Given the description of an element on the screen output the (x, y) to click on. 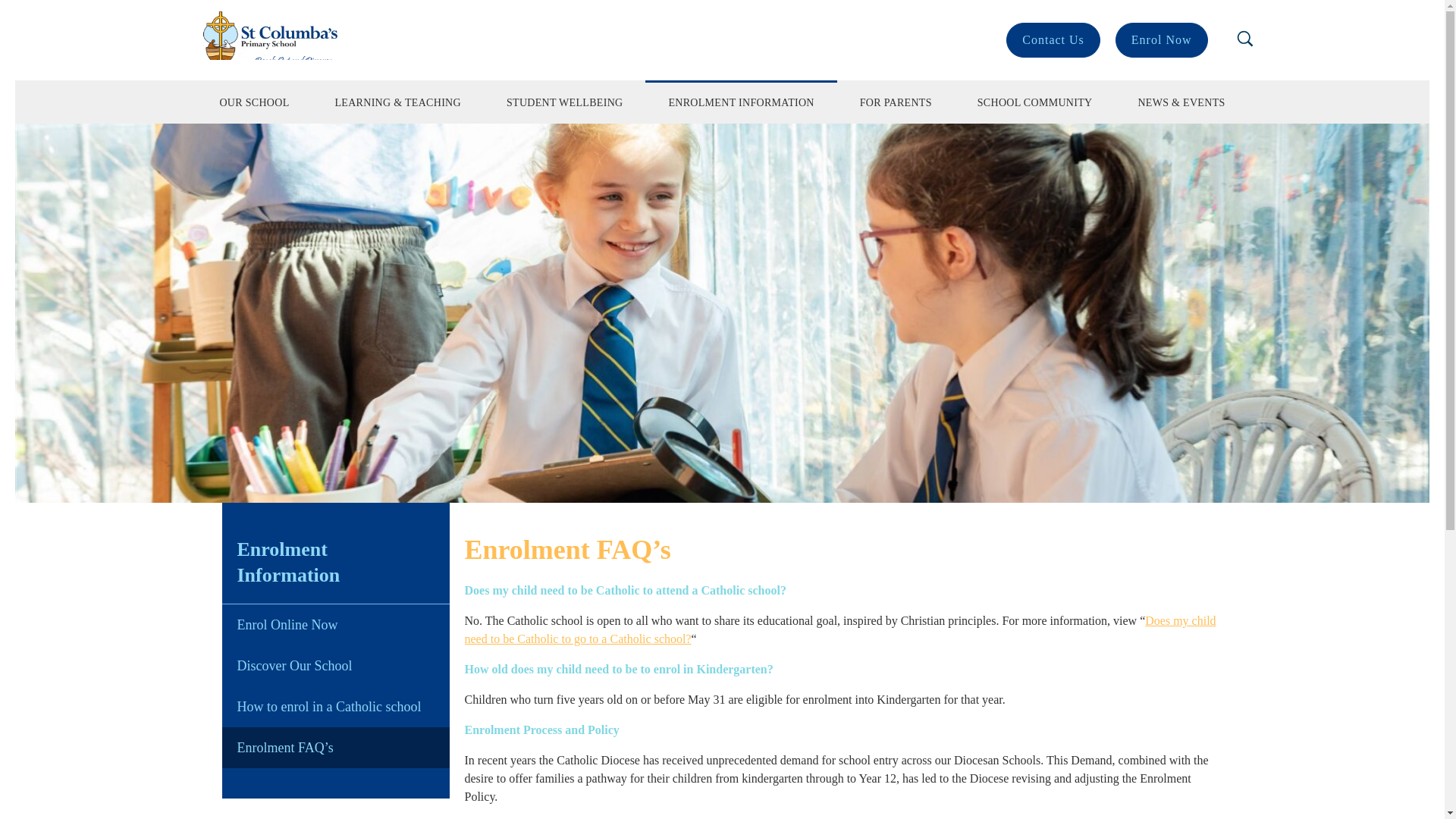
Contact Us (1053, 39)
Enrol Now (1161, 39)
OUR SCHOOL (253, 102)
FOR PARENTS (896, 102)
ENROLMENT INFORMATION (740, 102)
STUDENT WELLBEING (564, 102)
